Given the description of an element on the screen output the (x, y) to click on. 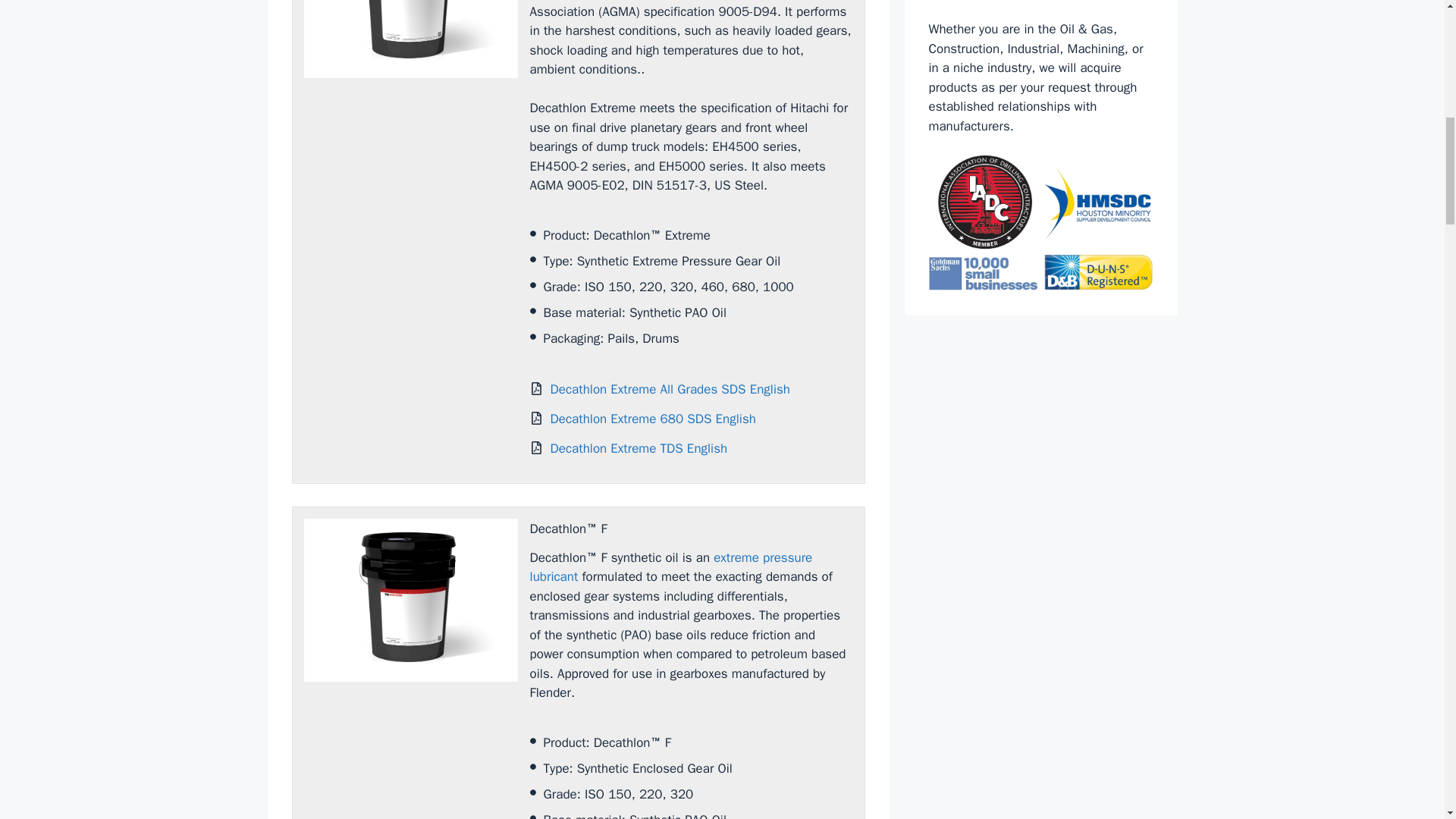
Whitmore Decathlon F Gear Oils (409, 600)
Whitmore Decathlon Extreme Gear Oils (409, 38)
